Given the description of an element on the screen output the (x, y) to click on. 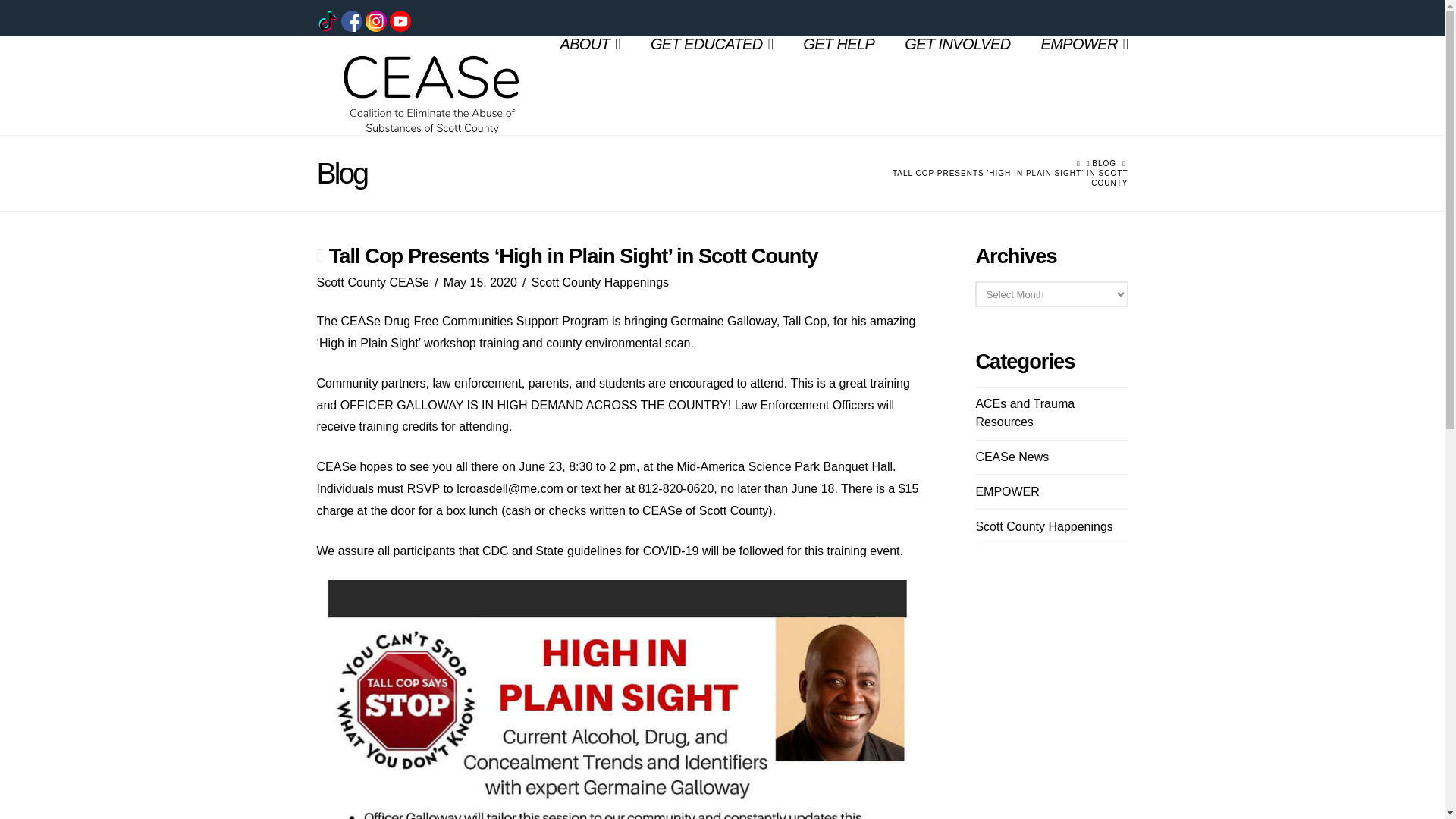
GET HELP (838, 62)
TALL COP PRESENTS 'HIGH IN PLAIN SIGHT' IN SCOTT COUNTY (1004, 178)
ABOUT (589, 62)
BLOG (1104, 163)
EMPOWER (1077, 62)
CEASe News (1011, 456)
GET INVOLVED (957, 62)
EMPOWER (1007, 492)
You Are Here (1004, 178)
Scott County Happenings (1043, 526)
Scott County Happenings (599, 282)
ACEs and Trauma Resources (1050, 412)
GET EDUCATED (710, 62)
